Given the description of an element on the screen output the (x, y) to click on. 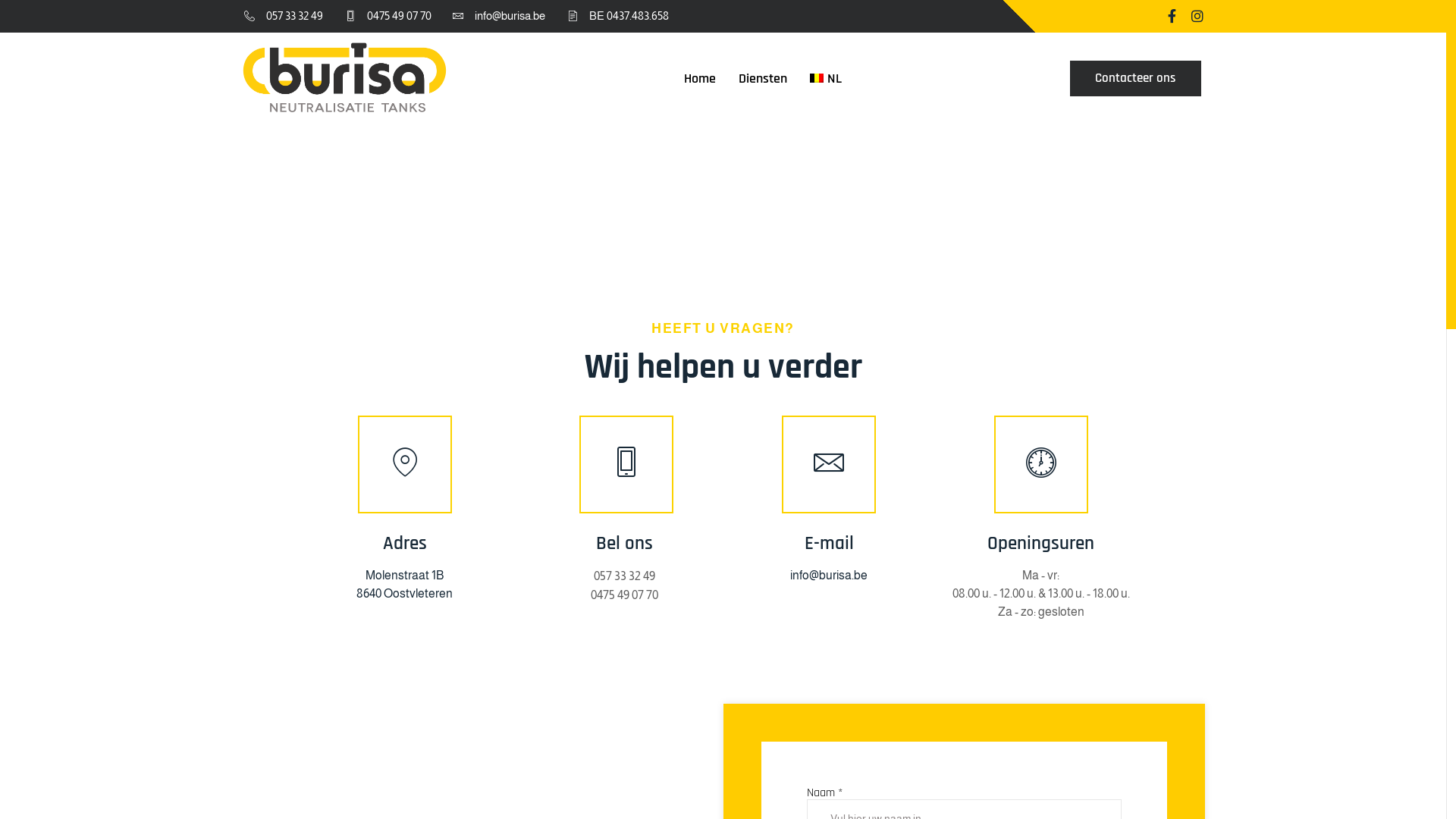
Contacteer ons Element type: text (1135, 78)
057 33 32 49 Element type: text (624, 574)
info@burisa.be Element type: text (828, 574)
Diensten Element type: text (762, 77)
Adres Element type: text (404, 543)
Molenstraat 1B
8640 Oostvleteren Element type: text (404, 583)
E-mail Element type: text (829, 543)
0475 49 07 70 Element type: text (624, 594)
Home Element type: text (699, 77)
0475 49 07 70 Element type: text (386, 16)
NL Element type: text (825, 77)
057 33 32 49 Element type: text (282, 16)
Bel ons Element type: text (624, 543)
info@burisa.be Element type: text (498, 16)
